Given the description of an element on the screen output the (x, y) to click on. 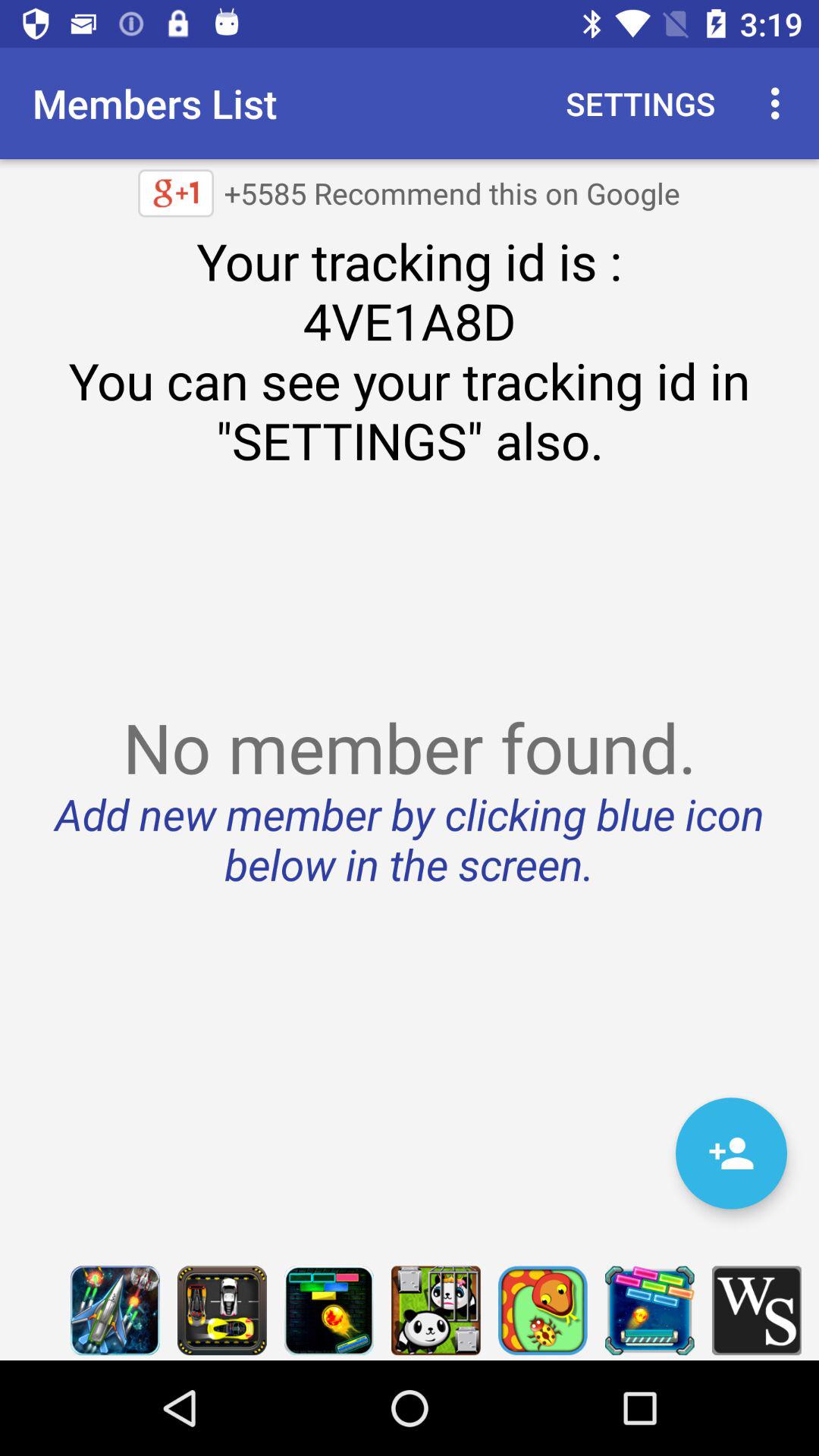
navigate to advertised application (435, 1310)
